Given the description of an element on the screen output the (x, y) to click on. 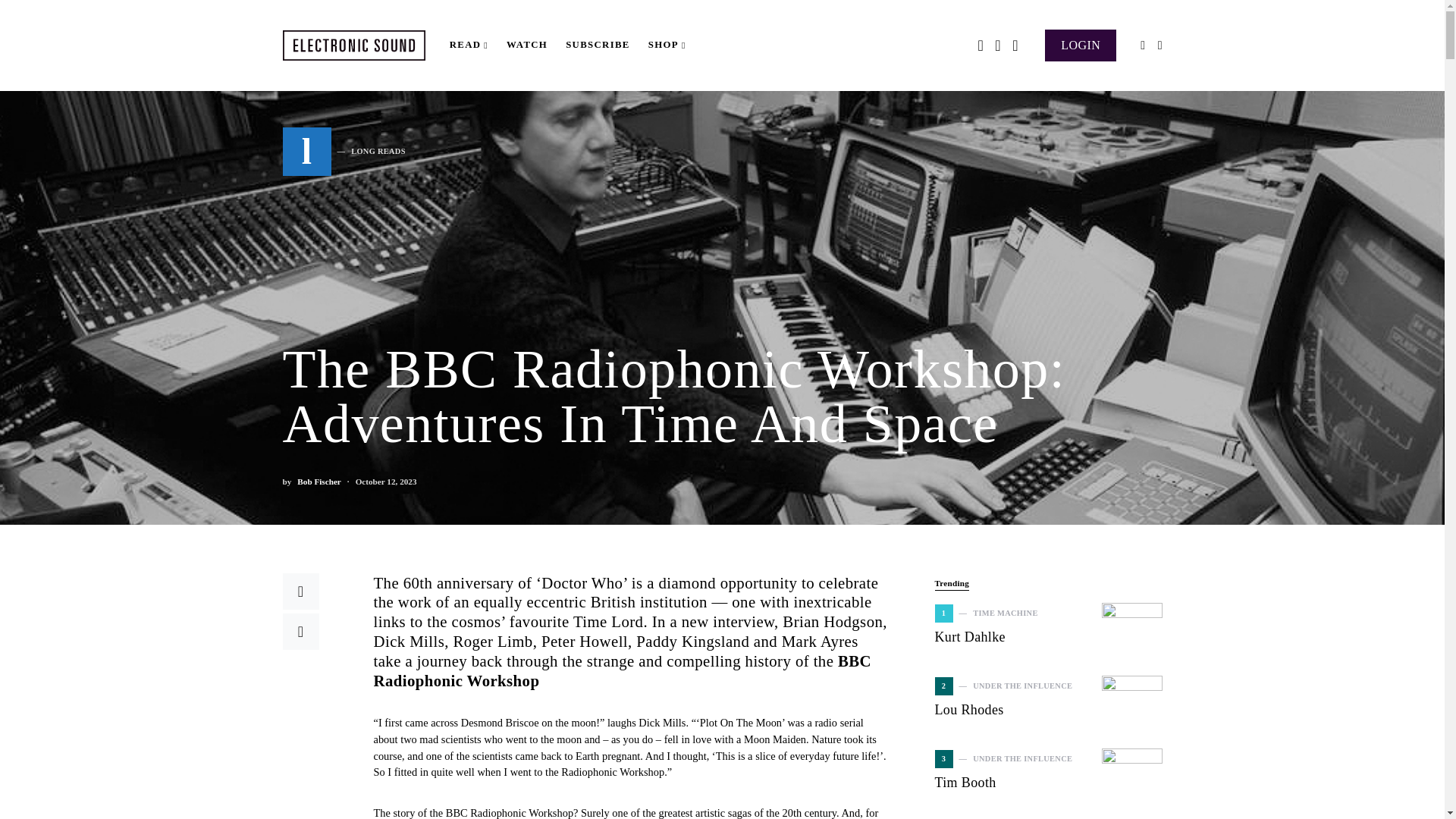
Bob Fischer (343, 151)
LOGIN (318, 481)
SUBSCRIBE (1080, 44)
View all posts by Bob Fischer (597, 45)
